Given the description of an element on the screen output the (x, y) to click on. 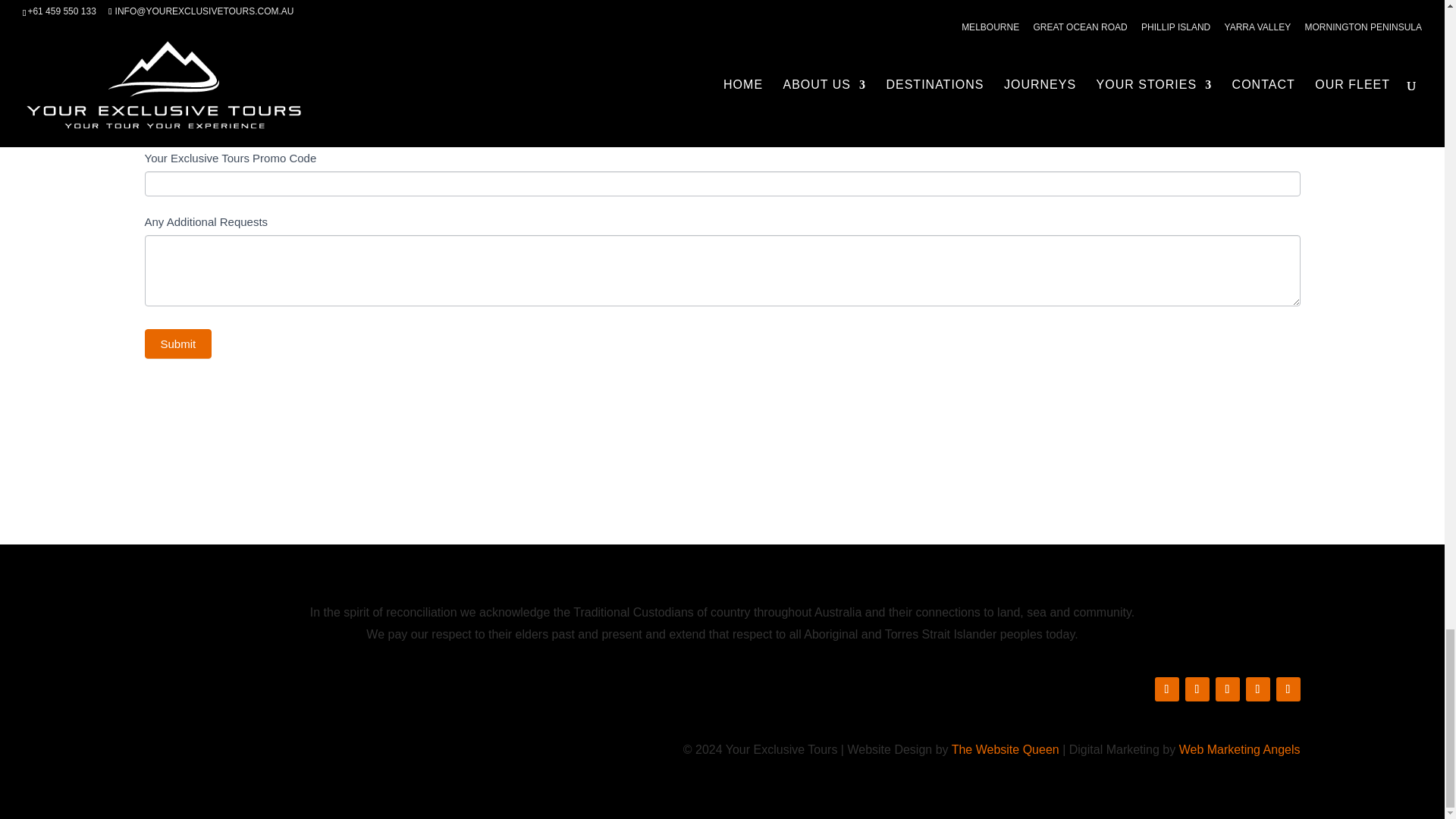
Follow on Youtube (1287, 689)
MP (150, 8)
PI (150, 35)
Private Express Experience (740, 35)
Follow on Facebook (1165, 689)
Follow on TripAdvisor (1226, 689)
Follow on Pinterest (1256, 689)
Follow on Instagram (1196, 689)
MSS (150, 21)
Half Day Private Experience (740, 8)
Sunset Private Experience (740, 21)
DR (150, 62)
YV (150, 49)
